Given the description of an element on the screen output the (x, y) to click on. 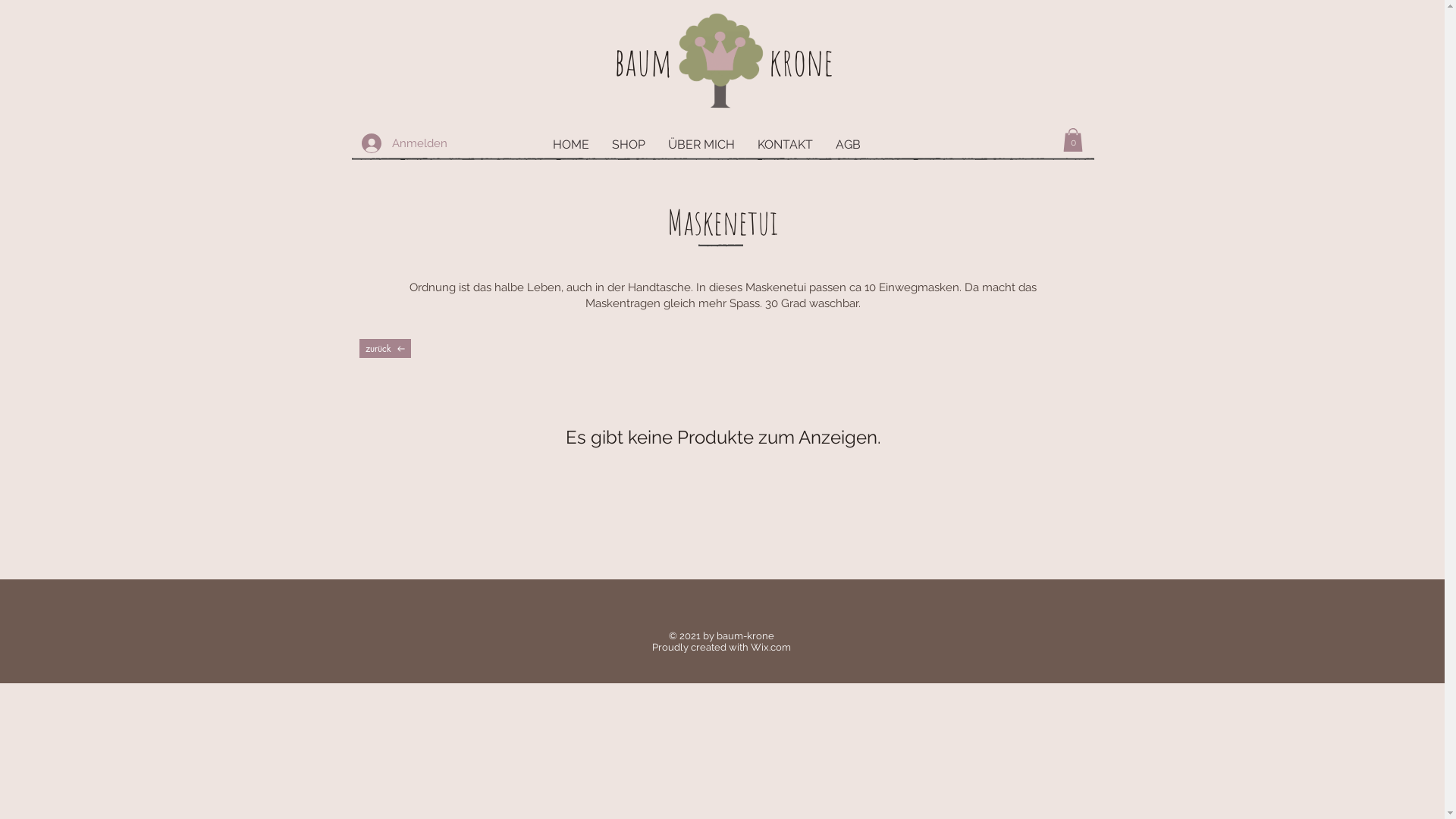
SHOP Element type: text (628, 144)
AGB Element type: text (848, 144)
HOME Element type: text (570, 144)
krone Element type: text (800, 60)
KONTAKT Element type: text (785, 144)
Anmelden Element type: text (381, 142)
0 Element type: text (1072, 139)
baum Element type: text (642, 60)
Wix.com Element type: text (770, 646)
